Given the description of an element on the screen output the (x, y) to click on. 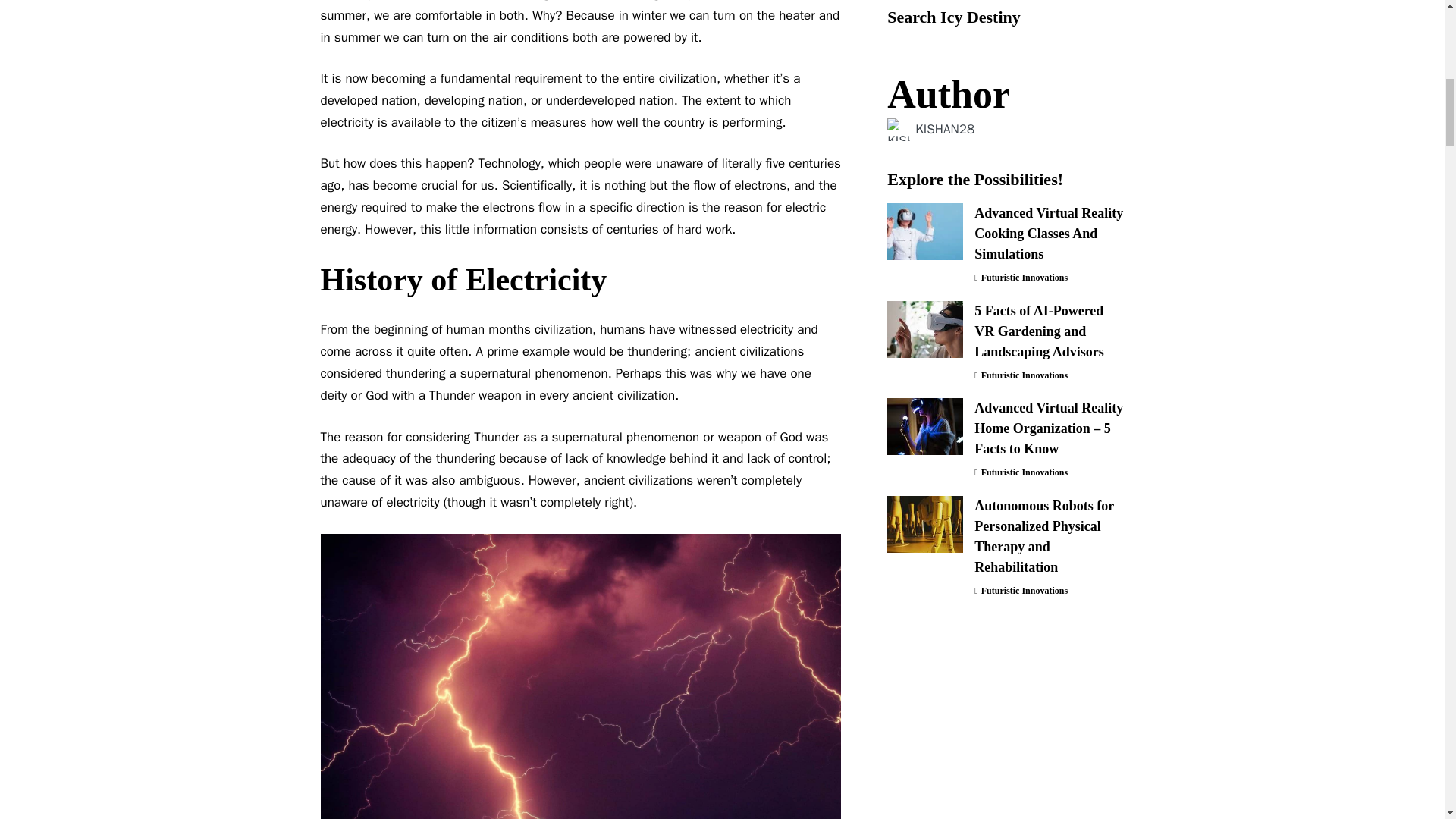
5 Facts of AI-Powered VR Gardening and Landscaping Advisors (924, 138)
Advanced Virtual Reality Cooking Classes And Simulations (924, 41)
